Given the description of an element on the screen output the (x, y) to click on. 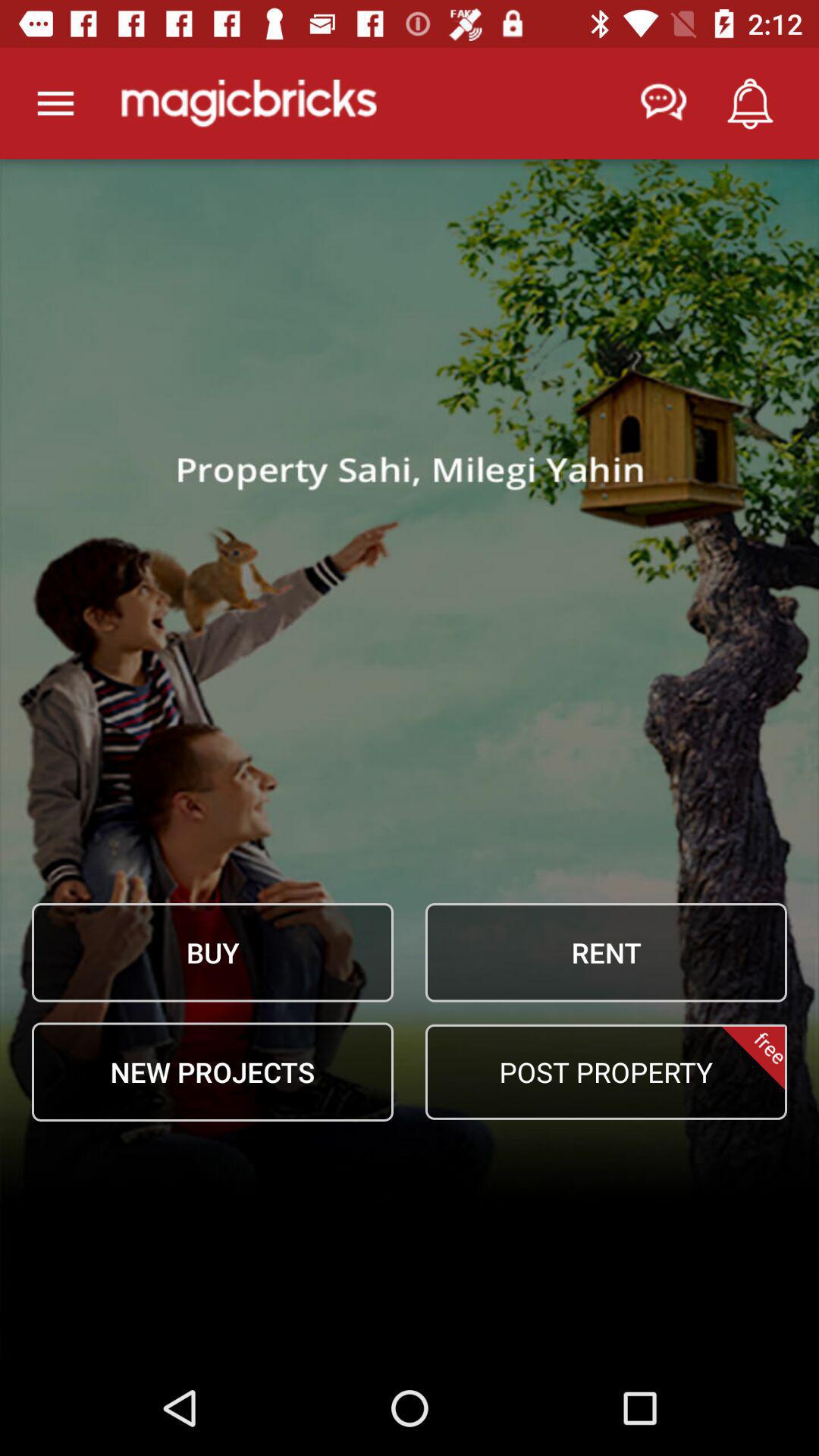
choose rent (606, 952)
